Given the description of an element on the screen output the (x, y) to click on. 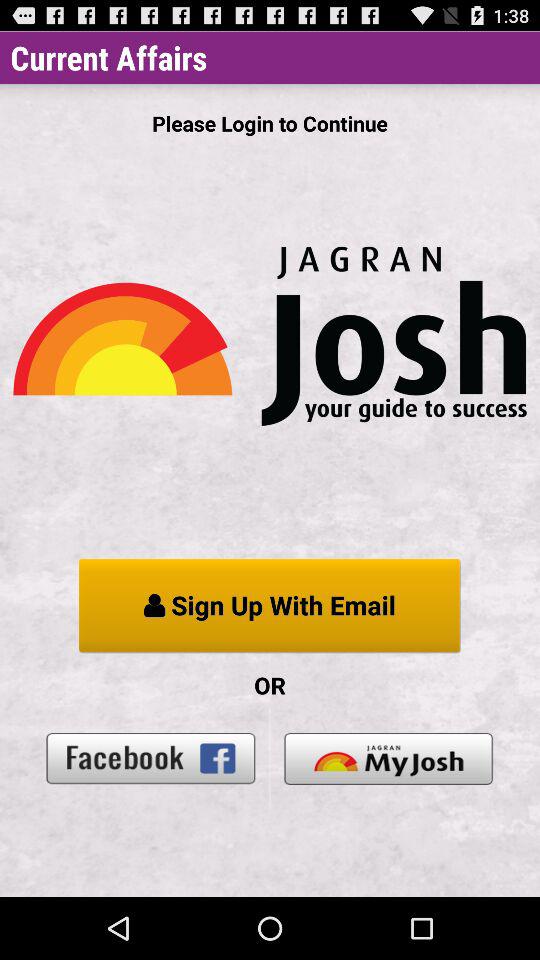
sign up with facebook (151, 758)
